Given the description of an element on the screen output the (x, y) to click on. 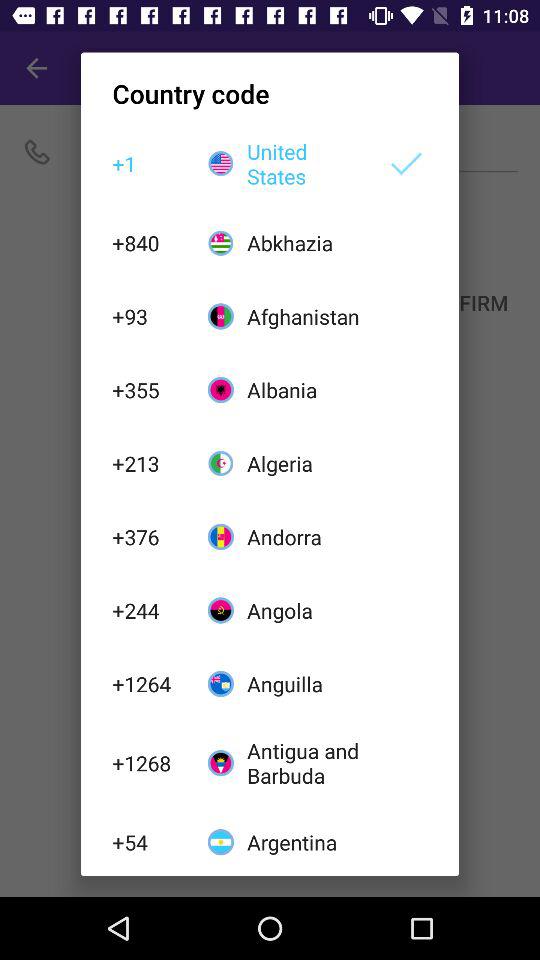
press the +1264 (149, 683)
